Given the description of an element on the screen output the (x, y) to click on. 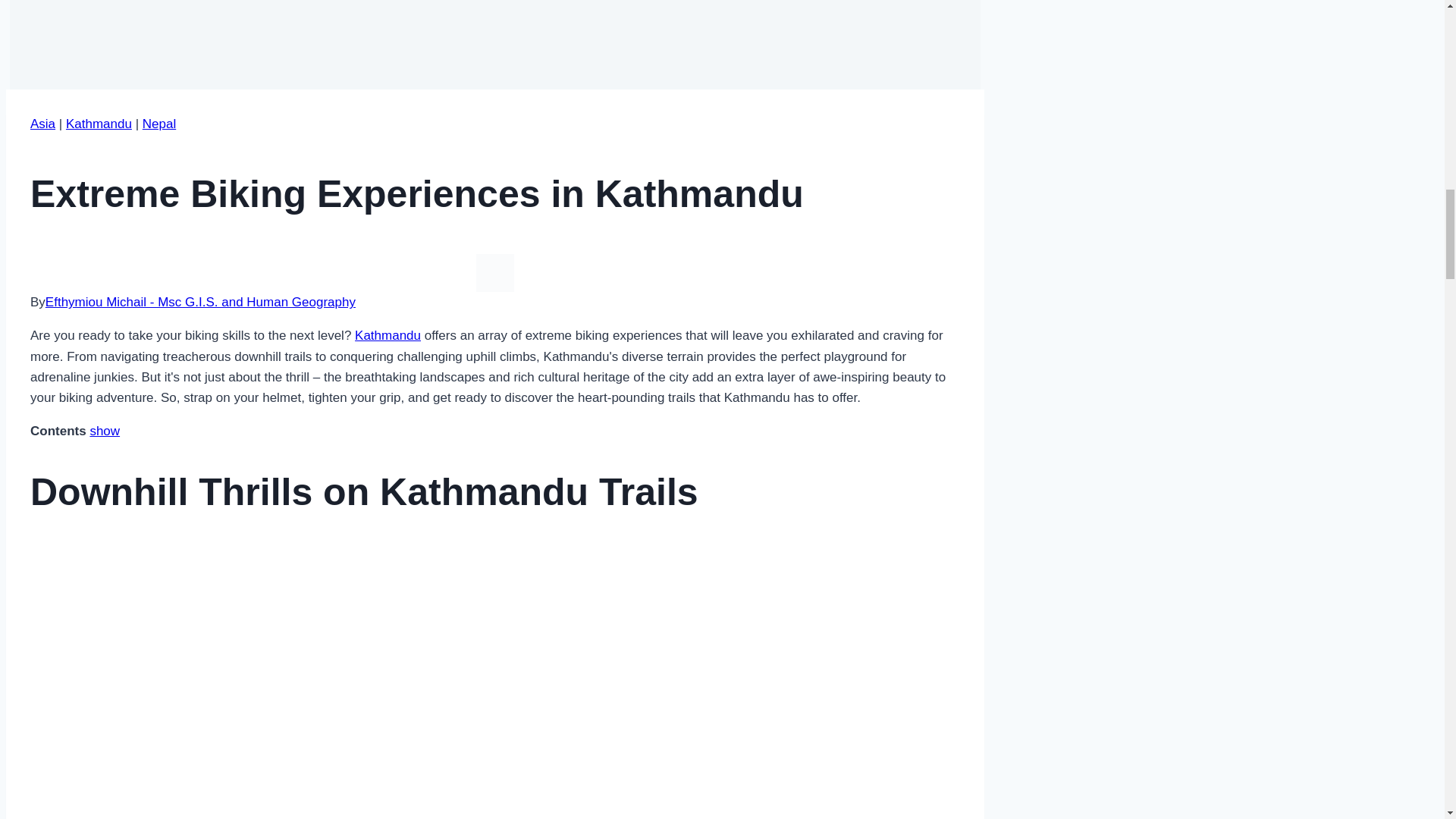
Asia (42, 124)
Kathmandu (387, 335)
Kathmandu (98, 124)
Efthymiou Michail - Msc G.I.S. and Human Geography (200, 301)
Nepal (159, 124)
show (103, 431)
